Given the description of an element on the screen output the (x, y) to click on. 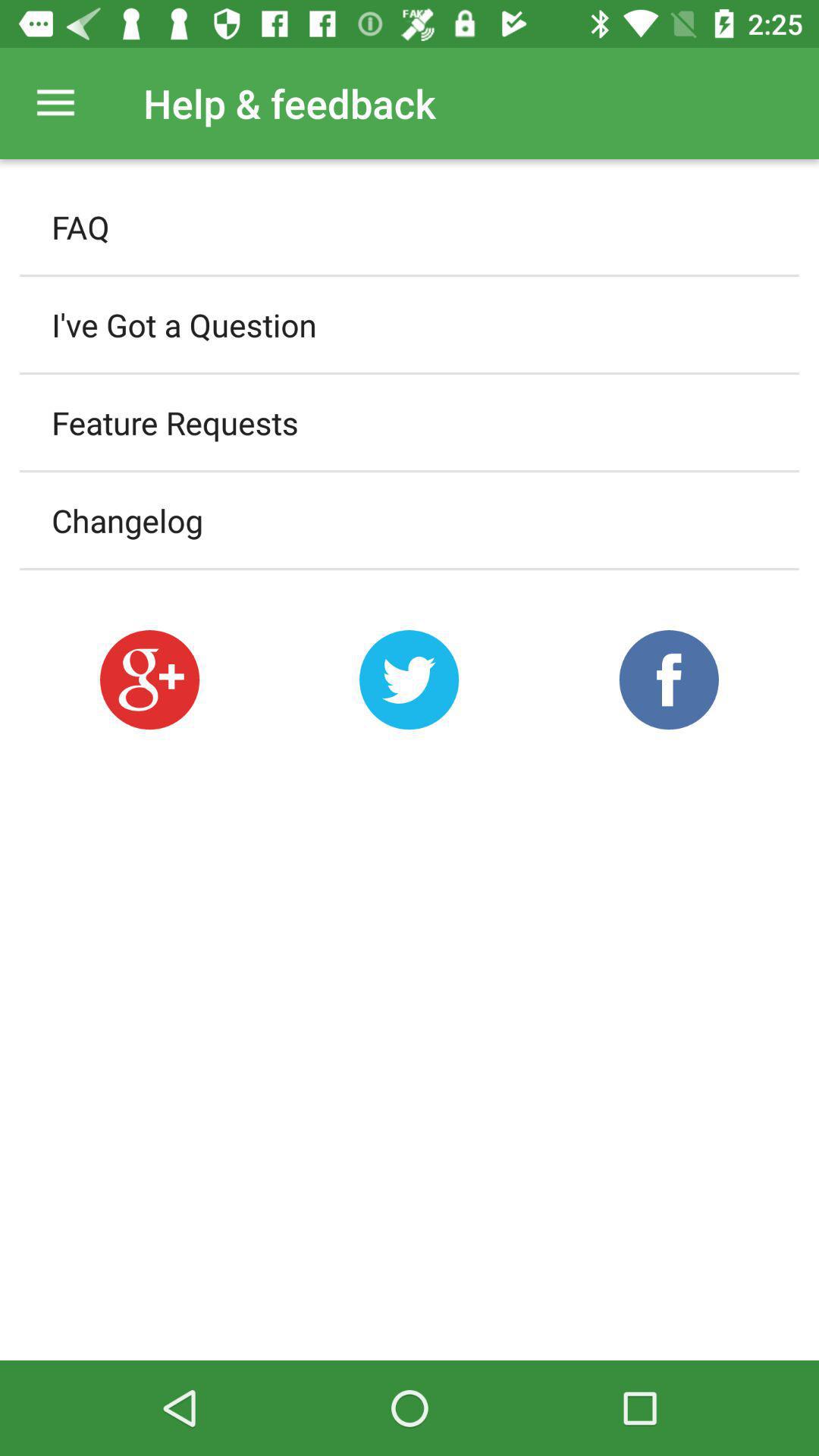
select the icon to the left of help & feedback item (55, 103)
